Given the description of an element on the screen output the (x, y) to click on. 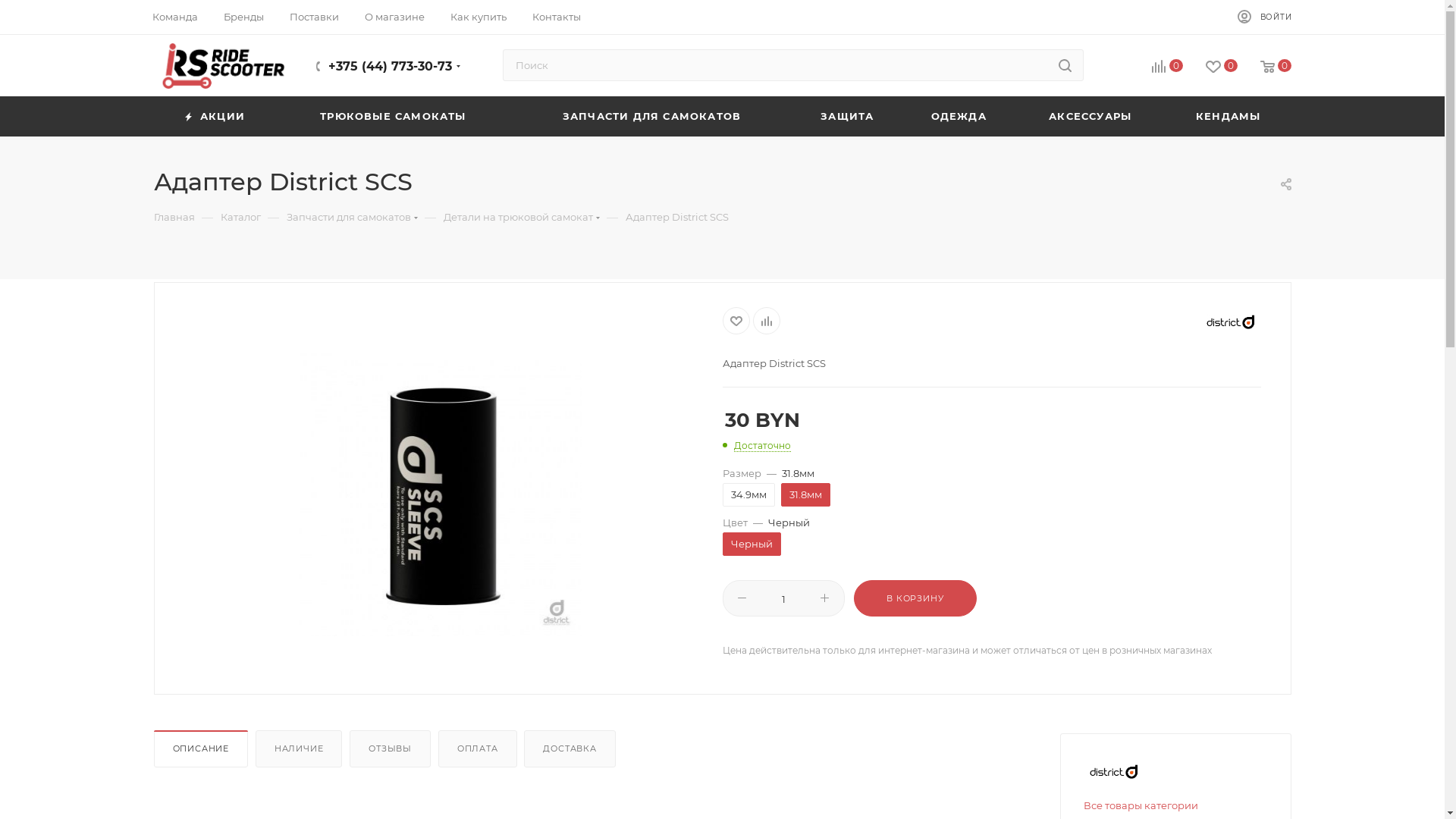
+375 (44) 773-30-73 Element type: text (389, 66)
0 Element type: text (1264, 66)
0 Element type: text (1155, 66)
District Element type: hover (1230, 321)
Ride scooter Element type: hover (222, 65)
0 Element type: text (1210, 66)
District Element type: hover (1113, 771)
